Given the description of an element on the screen output the (x, y) to click on. 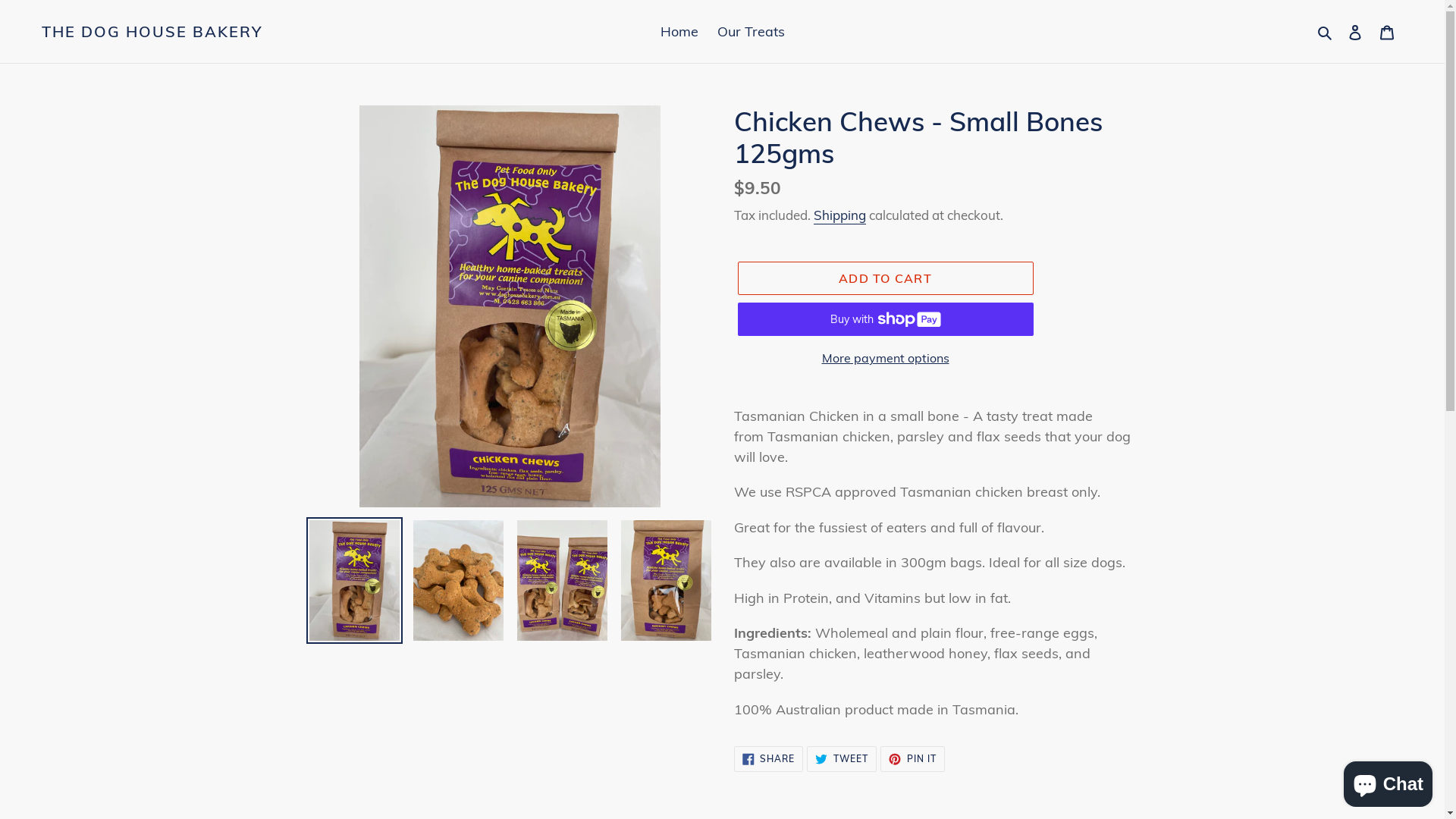
Our Treats Element type: text (750, 30)
Cart Element type: text (1386, 31)
More payment options Element type: text (884, 357)
TWEET
TWEET ON TWITTER Element type: text (841, 758)
Shipping Element type: text (838, 215)
Home Element type: text (678, 30)
ADD TO CART Element type: text (884, 277)
Shopify online store chat Element type: hover (1388, 780)
THE DOG HOUSE BAKERY Element type: text (151, 31)
PIN IT
PIN ON PINTEREST Element type: text (912, 758)
Search Element type: text (1325, 31)
Log in Element type: text (1355, 31)
SHARE
SHARE ON FACEBOOK Element type: text (768, 758)
